Given the description of an element on the screen output the (x, y) to click on. 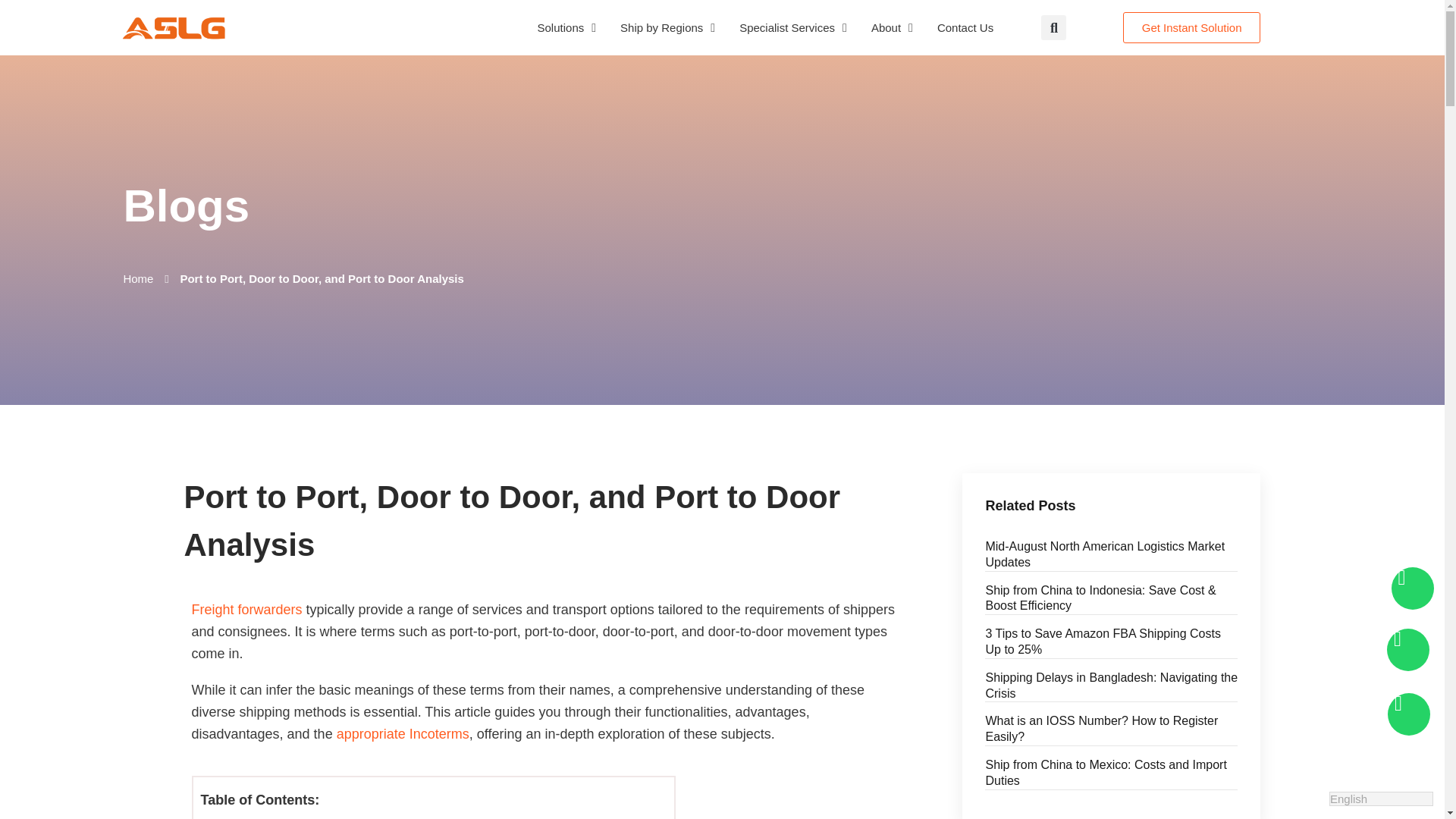
Ship by Regions (667, 27)
Solutions (566, 27)
Port to Port, Door to Door, and Port to Door Analysis (321, 279)
Home (137, 279)
Specialist Services (792, 27)
About (891, 27)
